Given the description of an element on the screen output the (x, y) to click on. 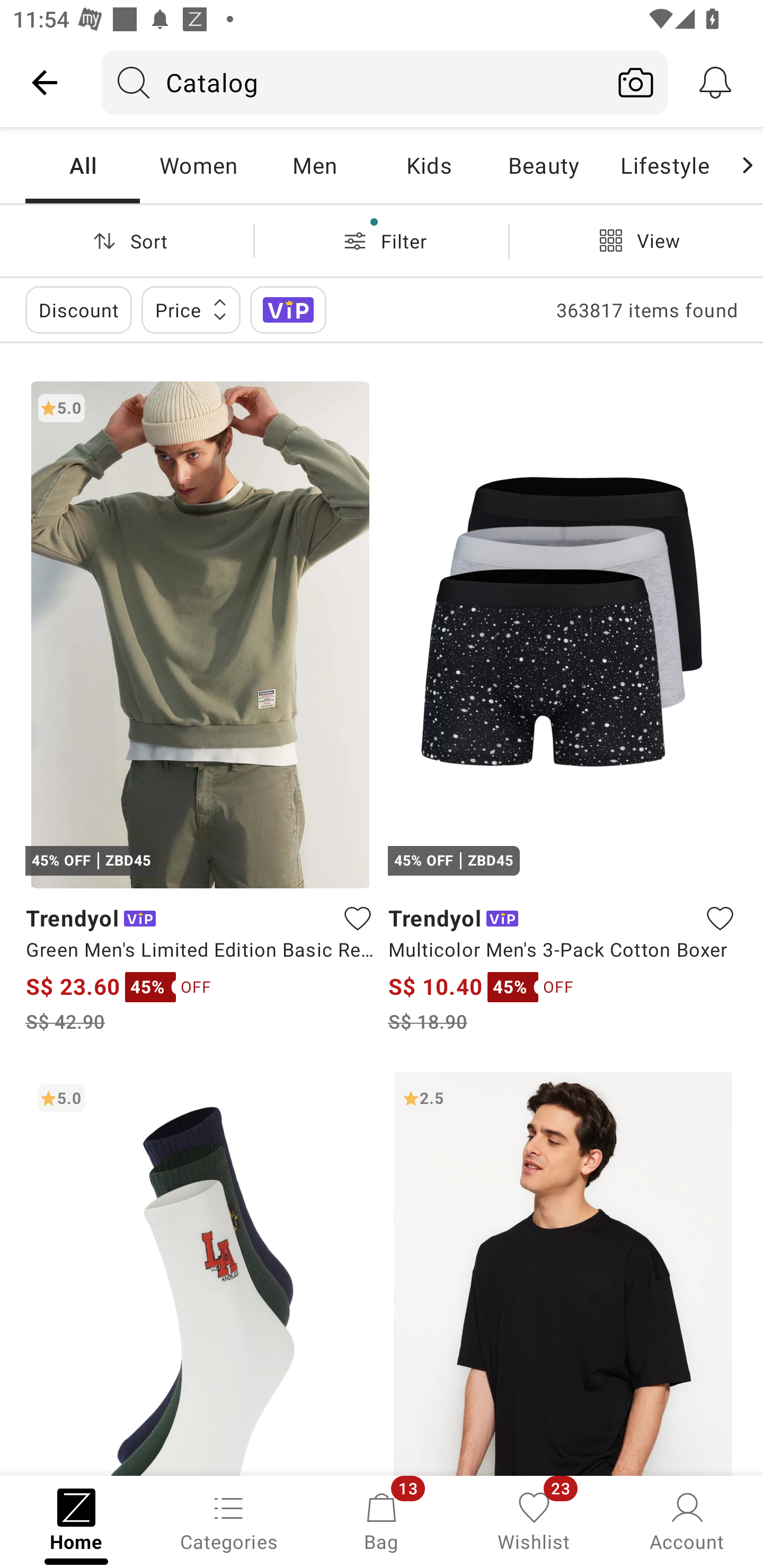
Navigate up (44, 82)
Catalog (352, 82)
Women (198, 165)
Men (314, 165)
Kids (428, 165)
Beauty (543, 165)
Lifestyle (664, 165)
Sort (126, 240)
Filter (381, 240)
View (636, 240)
Discount (78, 309)
Price (190, 309)
5.0 (200, 1272)
2.5 (562, 1272)
Categories (228, 1519)
Bag, 13 new notifications Bag (381, 1519)
Wishlist, 23 new notifications Wishlist (533, 1519)
Account (686, 1519)
